Given the description of an element on the screen output the (x, y) to click on. 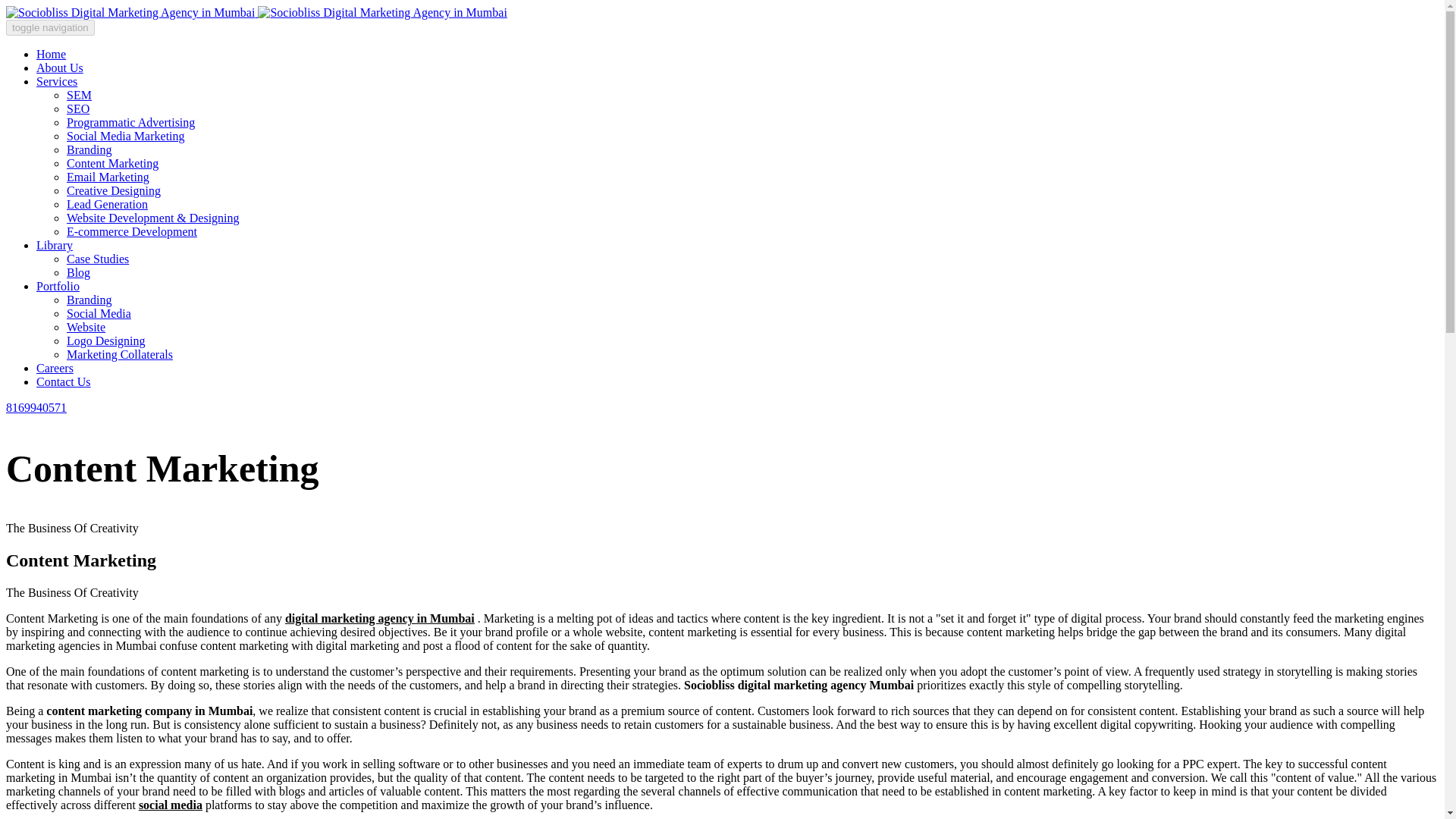
Logo Designing (105, 340)
digital marketing agency in Mumbai (379, 617)
Home (50, 53)
Creative Designing (113, 190)
Library (54, 245)
SEO (77, 108)
social media (170, 804)
Programmatic Advertising (130, 122)
Content Marketing (112, 163)
Website (85, 327)
Social Media (98, 313)
Careers (55, 367)
toggle navigation (49, 27)
About Us (59, 67)
E-commerce Development (131, 231)
